Given the description of an element on the screen output the (x, y) to click on. 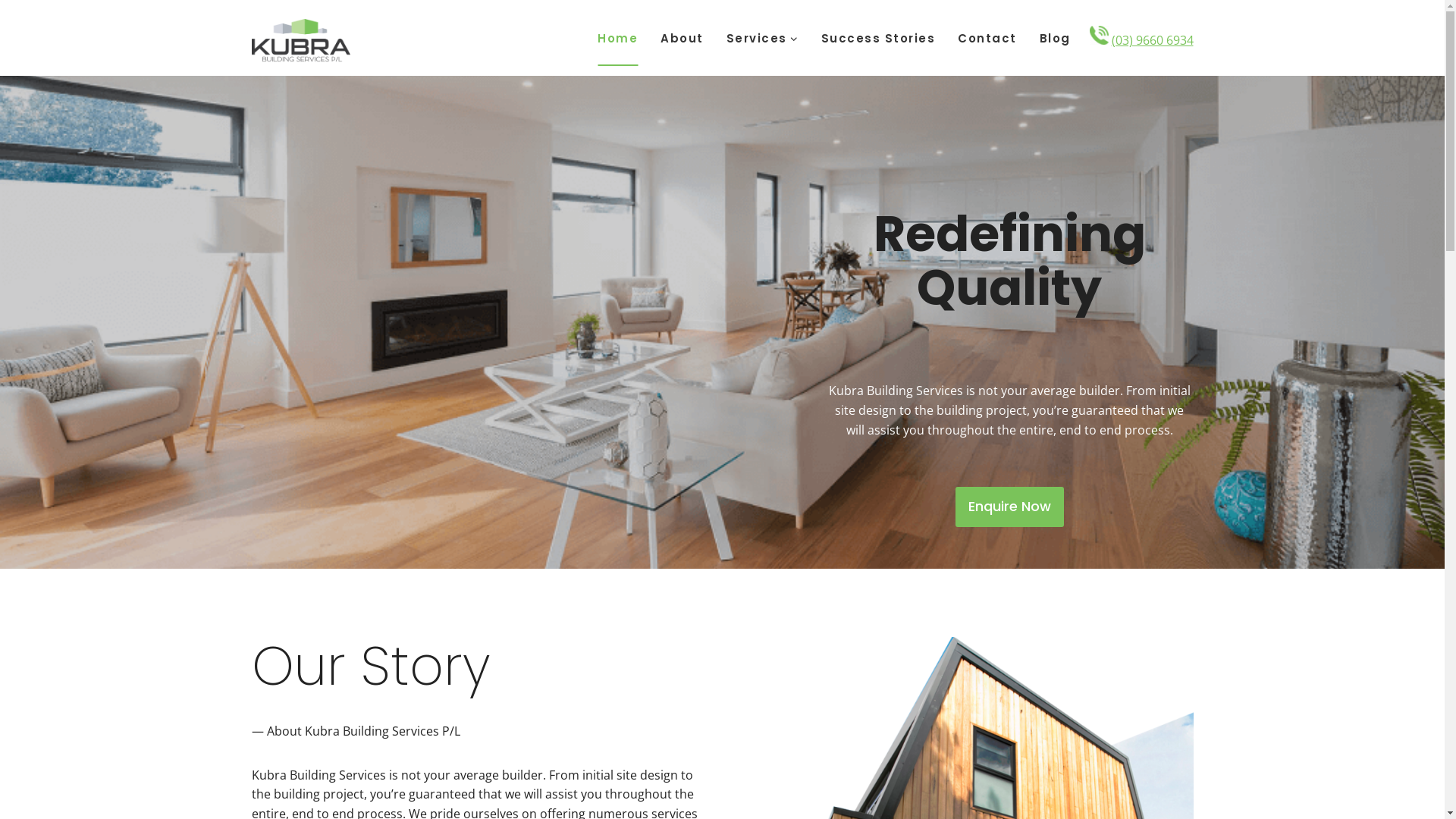
Services Element type: text (761, 37)
Enquire Now Element type: text (1009, 506)
Home Element type: text (617, 37)
(03) 9660 6934 Element type: text (1152, 39)
Success Stories Element type: text (878, 37)
Blog Element type: text (1055, 37)
Contact Element type: text (987, 37)
About Element type: text (682, 37)
